Given the description of an element on the screen output the (x, y) to click on. 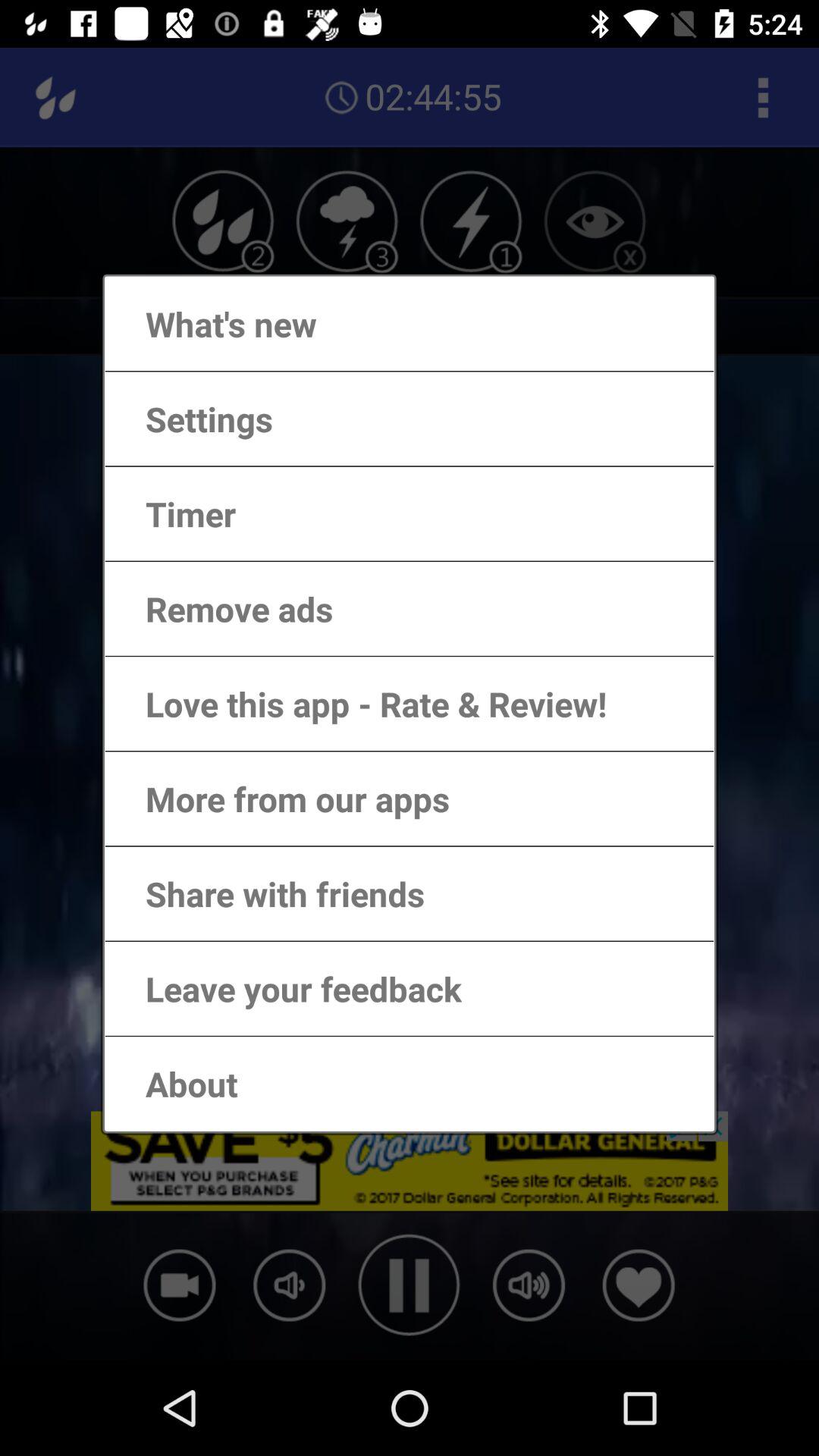
open the item above the love this app icon (224, 608)
